Given the description of an element on the screen output the (x, y) to click on. 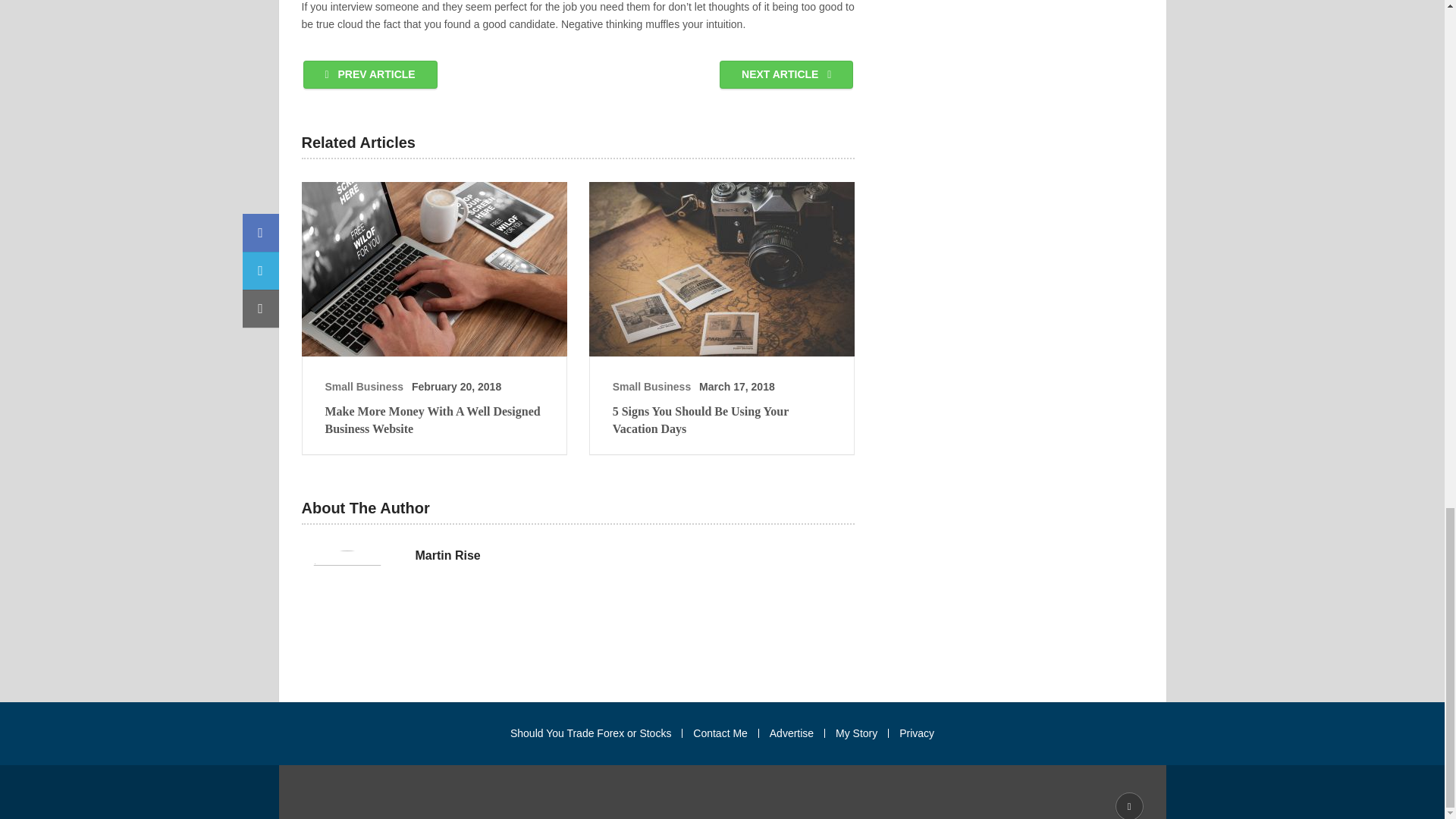
View all posts in Small Business (363, 386)
View all posts in Small Business (651, 386)
Make More Money With A Well Designed Business Website (433, 420)
5 Signs You Should Be Using Your Vacation Days (721, 420)
5 Signs You Should Be Using Your Vacation Days (721, 268)
Make More Money With A Well Designed Business Website (434, 268)
 Looking for a new source of income? Welcome to Market 365. (762, 792)
